Given the description of an element on the screen output the (x, y) to click on. 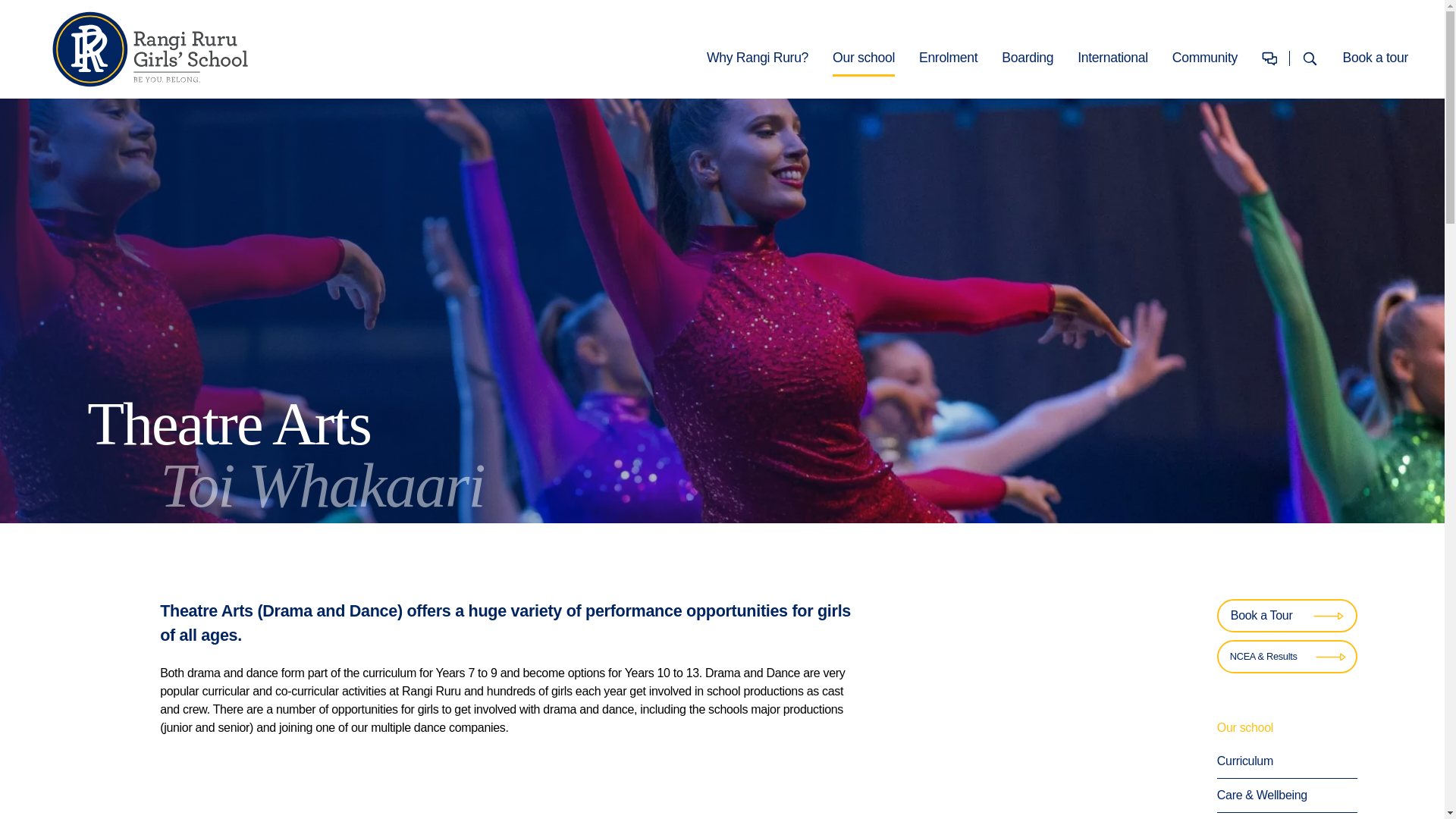
Our school (863, 57)
Enrolment (947, 57)
Why Rangi Ruru? (757, 57)
